Given the description of an element on the screen output the (x, y) to click on. 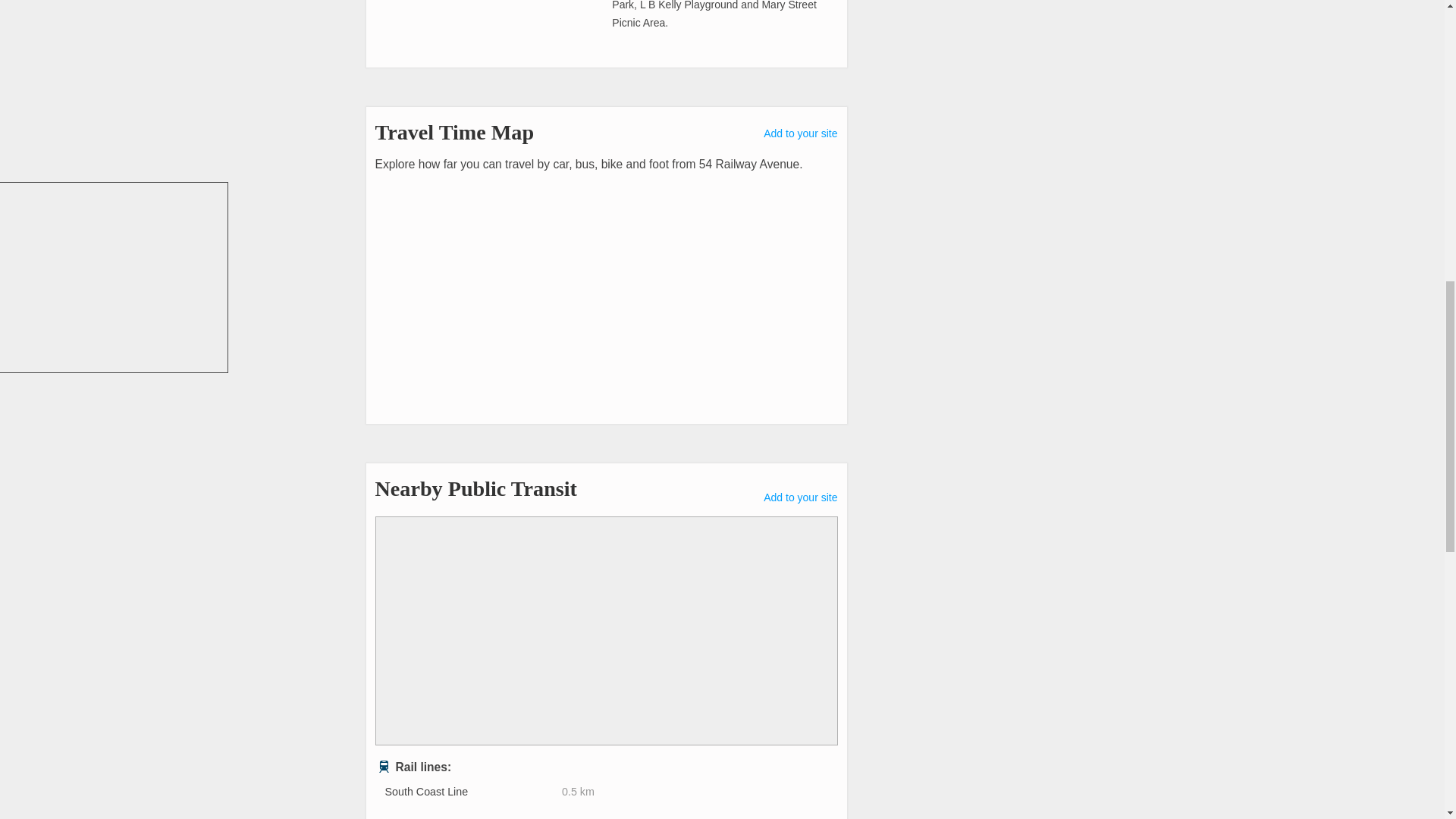
Add to your site (799, 497)
Add to your site (799, 133)
